Given the description of an element on the screen output the (x, y) to click on. 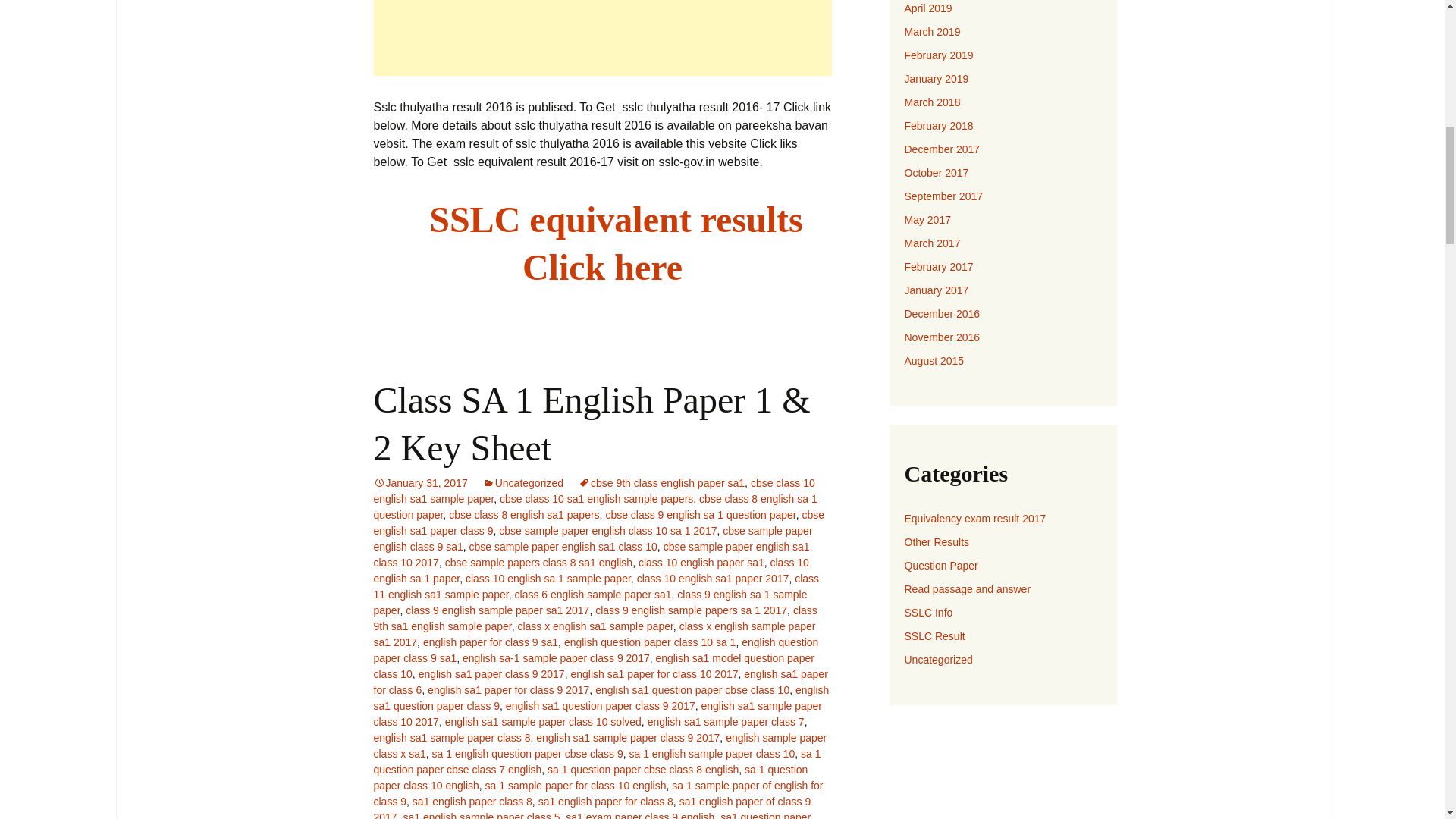
Advertisement (601, 38)
